Given the description of an element on the screen output the (x, y) to click on. 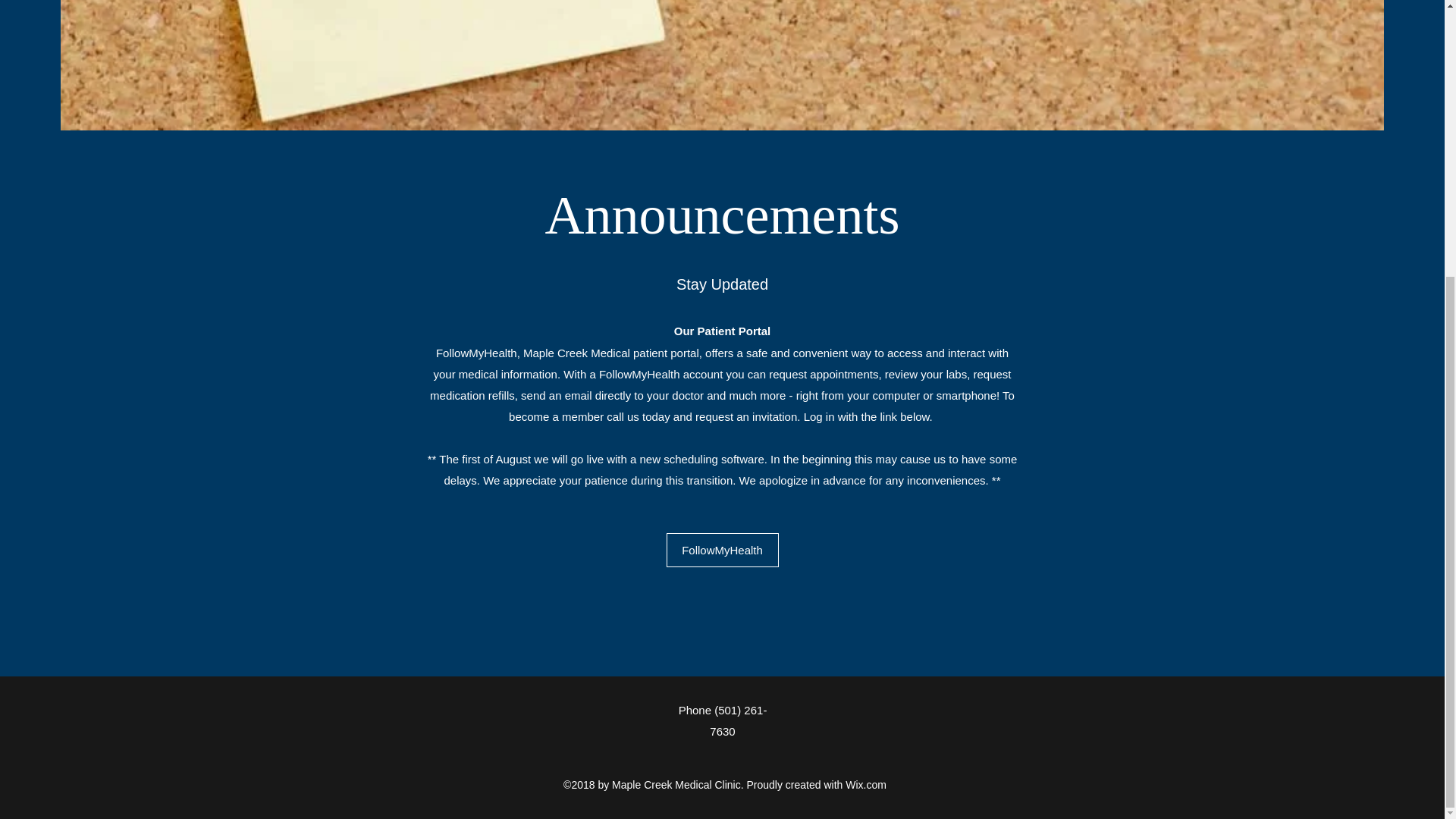
FollowMyHealth (721, 550)
